Given the description of an element on the screen output the (x, y) to click on. 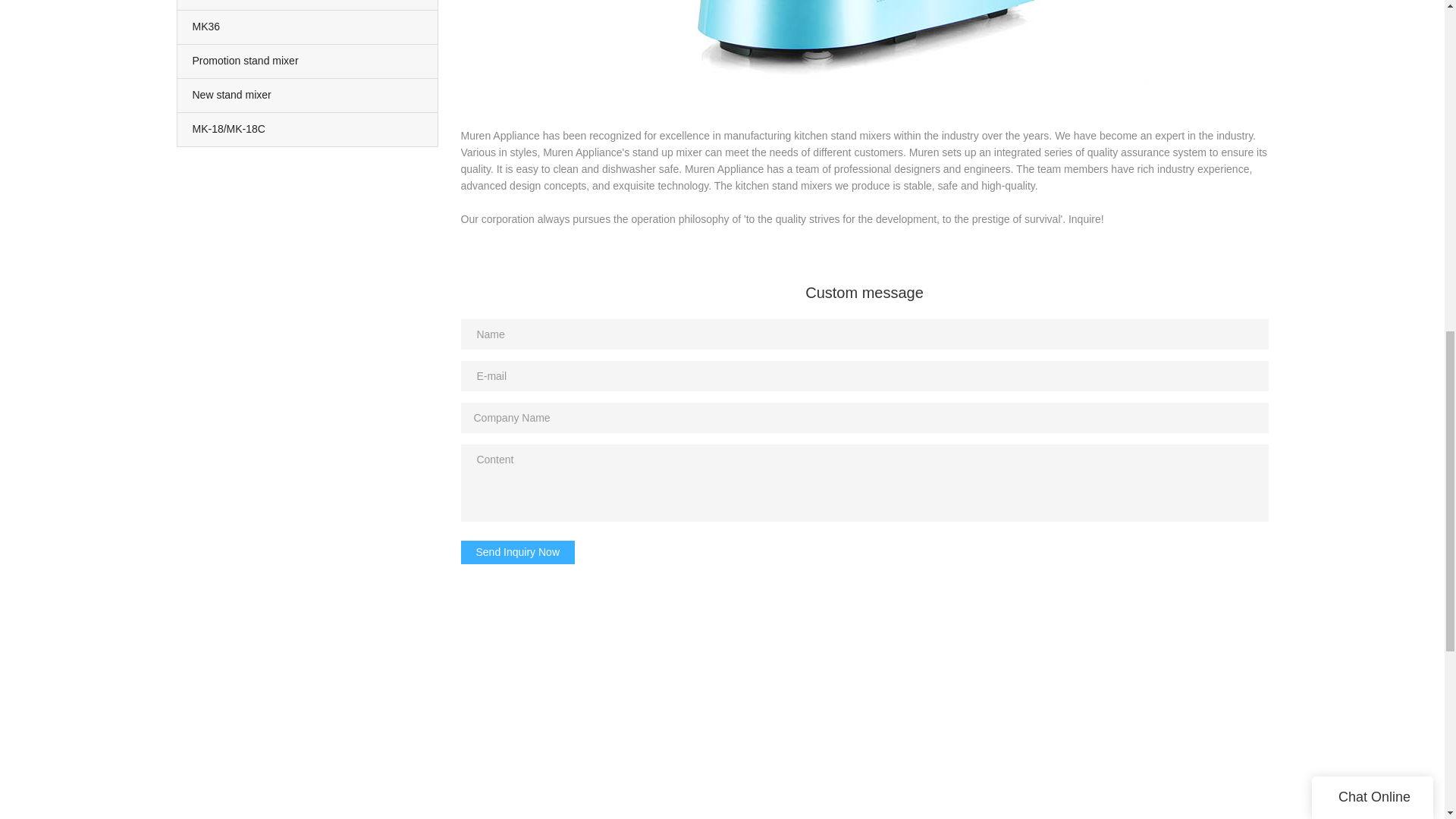
more products (307, 4)
MK36 (307, 27)
Send Inquiry Now (518, 551)
New stand mixer (307, 95)
Promotion stand mixer (307, 61)
